Given the description of an element on the screen output the (x, y) to click on. 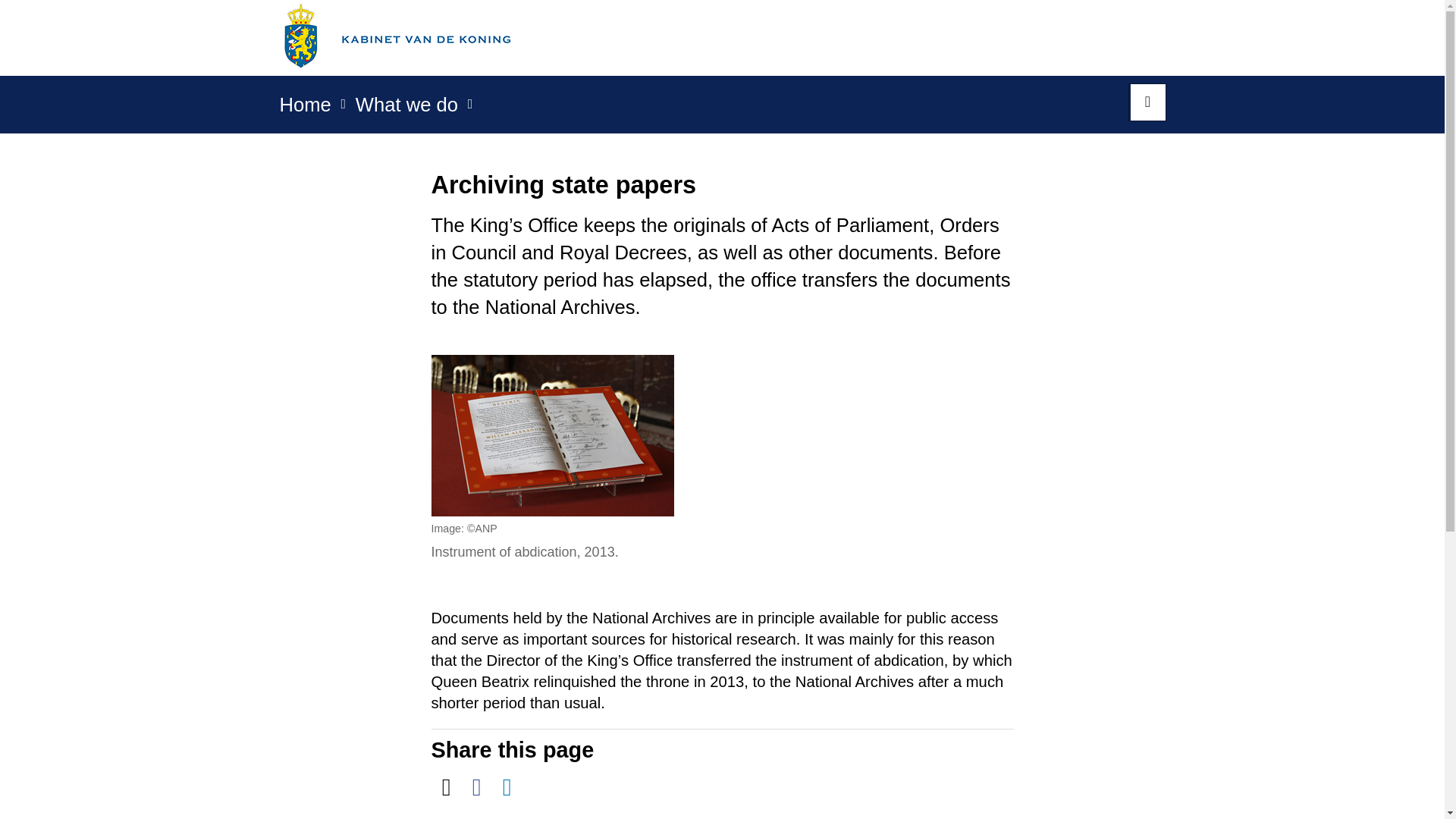
Share this page on your Twitter account (445, 787)
Share this page on your LinkedIn account (506, 787)
Share this page on your Facebook account (476, 787)
What we do (406, 109)
Home (304, 109)
Open search box (1146, 102)
Open search box (1146, 102)
